Given the description of an element on the screen output the (x, y) to click on. 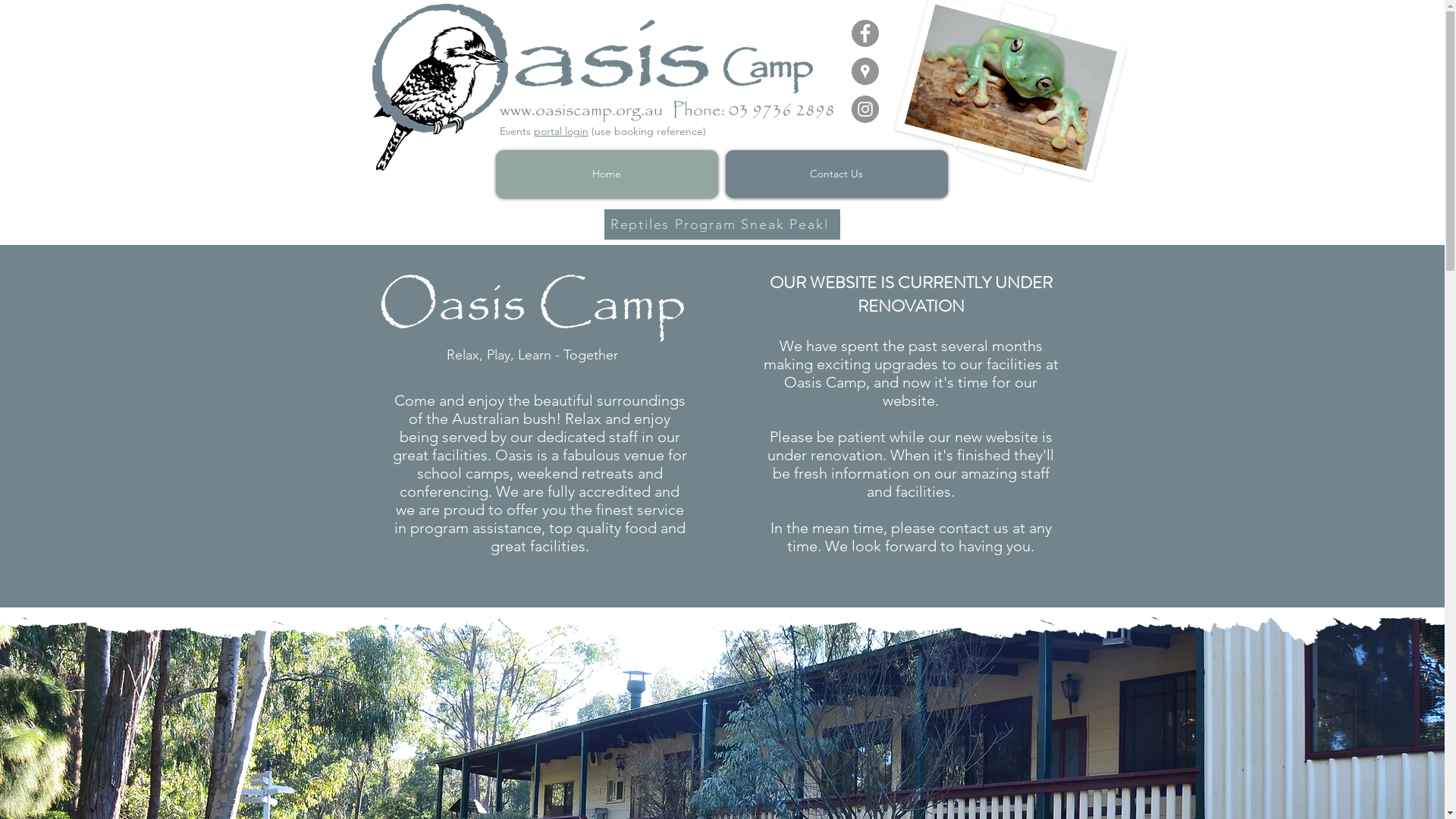
Contact Us Element type: text (835, 173)
Home Element type: text (606, 173)
Reptiles Program Sneak Peak! Element type: text (721, 224)
www.oasiscamp.org.au Element type: text (580, 110)
Events portal login (use booking reference) Element type: text (601, 131)
